Given the description of an element on the screen output the (x, y) to click on. 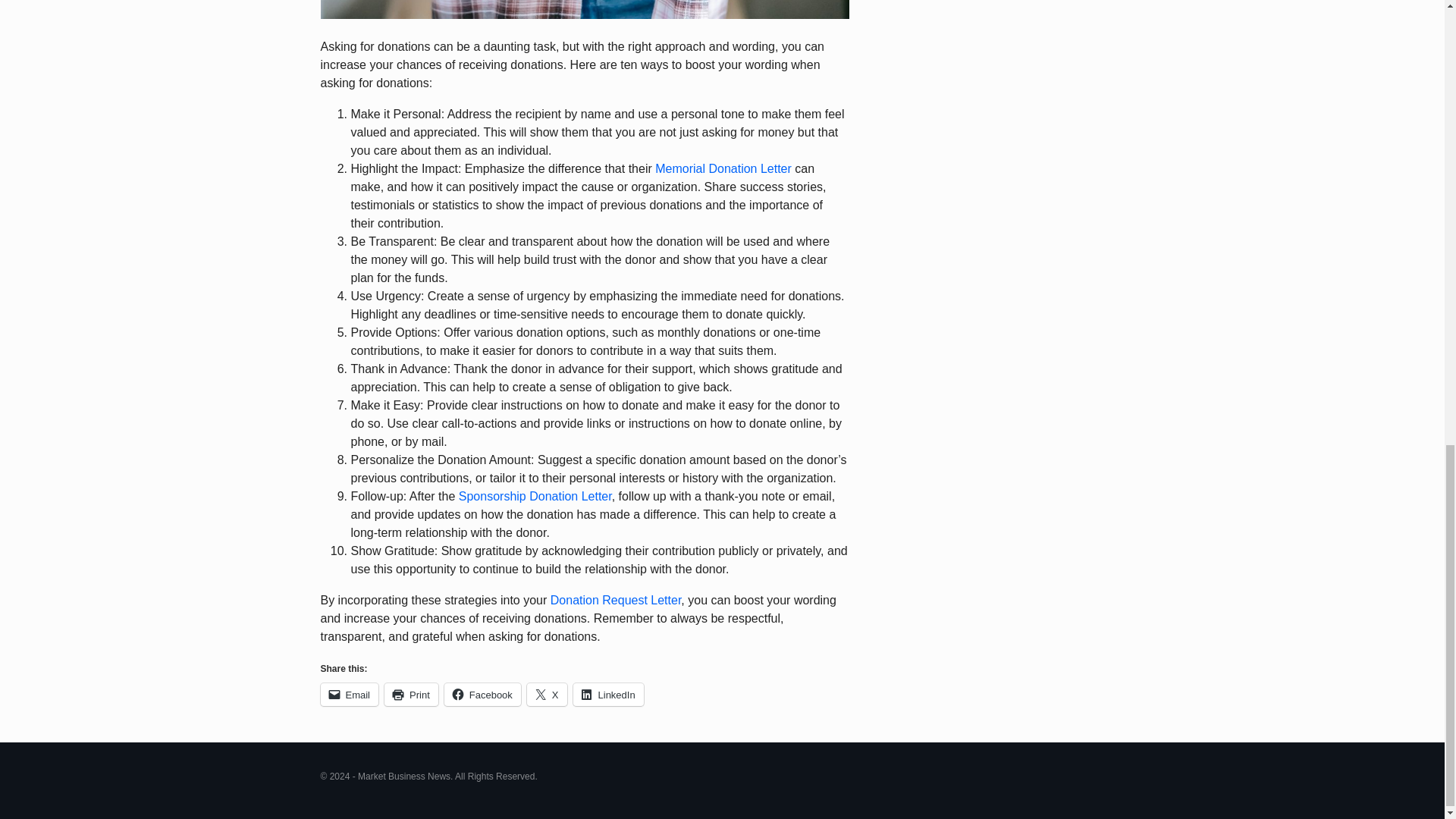
X (547, 694)
Click to email a link to a friend (349, 694)
Memorial Donation Letter (723, 168)
Click to share on X (547, 694)
Sponsorship Donation Letter (534, 495)
LinkedIn (608, 694)
Click to print (411, 694)
Click to share on Facebook (482, 694)
Donation Request Letter (615, 599)
Click to share on LinkedIn (608, 694)
